Given the description of an element on the screen output the (x, y) to click on. 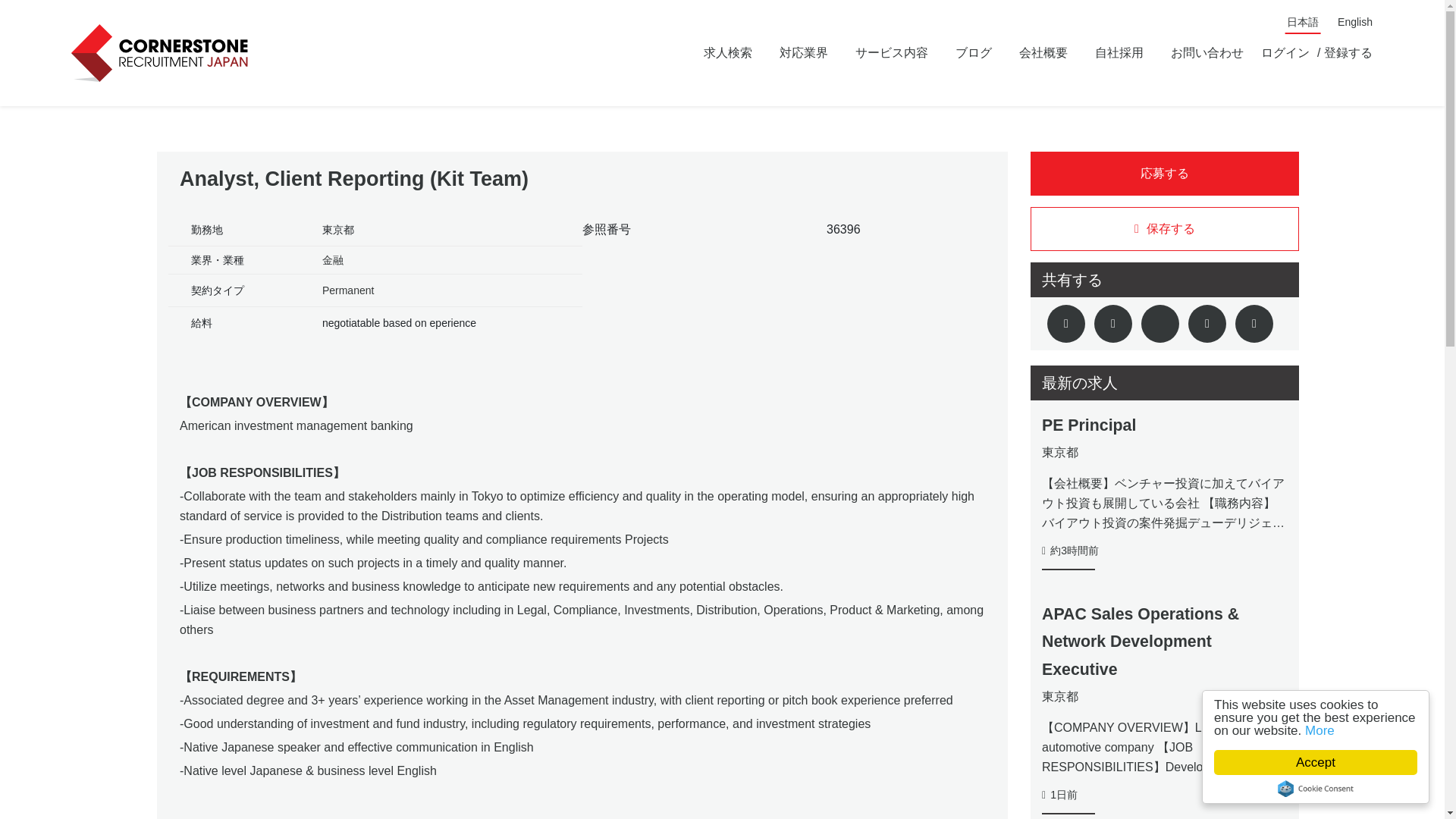
Tweet this (1065, 323)
Go to the Homepage (162, 52)
Cookie Consent plugin for the EU cookie law (1330, 788)
send in Whatsapp (1253, 323)
Cornerstone Recruitment Japan (162, 52)
More (1334, 730)
Email (1206, 323)
share on LinkedIn (1160, 323)
Accept (1330, 762)
share on Facebook (1113, 323)
